Given the description of an element on the screen output the (x, y) to click on. 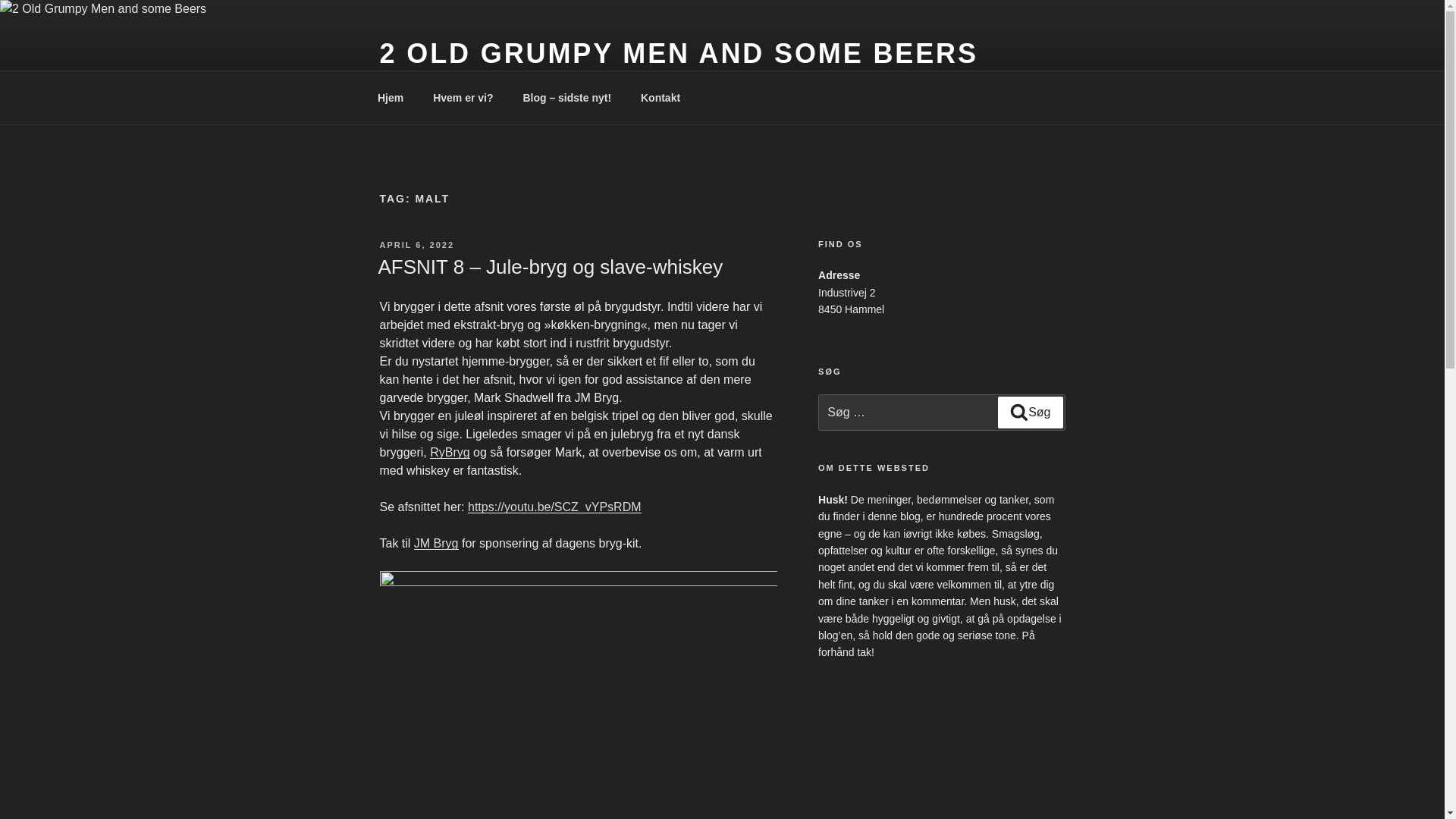
2 OLD GRUMPY MEN AND SOME BEERS Element type: text (678, 53)
Hvem er vi? Element type: text (463, 97)
Hjem Element type: text (390, 97)
Kontakt Element type: text (660, 97)
RyBryg Element type: text (449, 451)
https://youtu.be/SCZ_vYPsRDM Element type: text (554, 506)
JM Bryg Element type: text (436, 542)
Videre til indhold Element type: text (0, 0)
APRIL 6, 2022 Element type: text (416, 244)
